Given the description of an element on the screen output the (x, y) to click on. 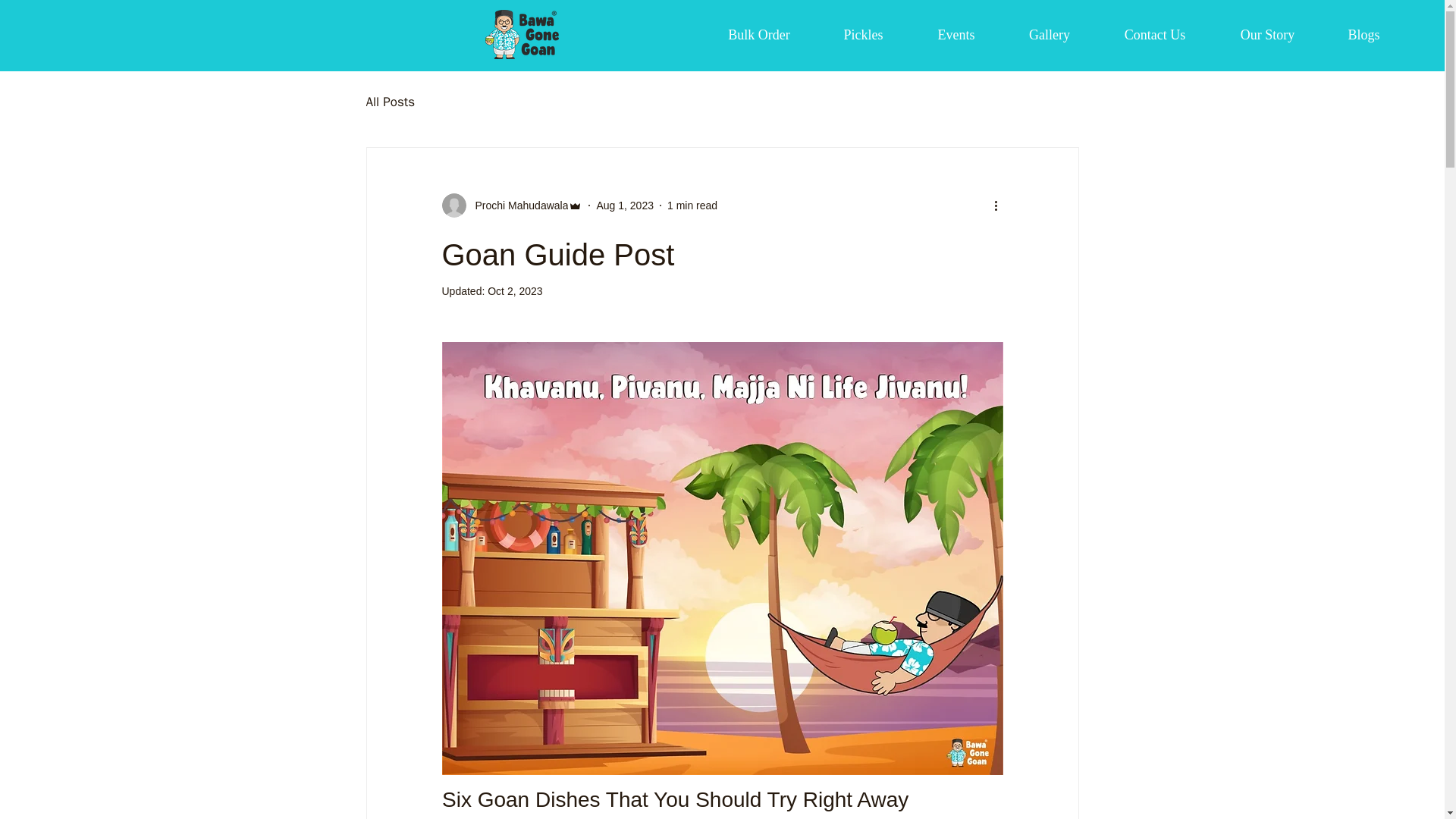
Pickles (863, 34)
Aug 1, 2023 (624, 204)
Our Story (1267, 34)
Events (956, 34)
Prochi Mahudawala (511, 205)
Oct 2, 2023 (514, 291)
All Posts (389, 100)
Gallery (1049, 34)
Contact Us (1154, 34)
Prochi Mahudawala (516, 204)
